Given the description of an element on the screen output the (x, y) to click on. 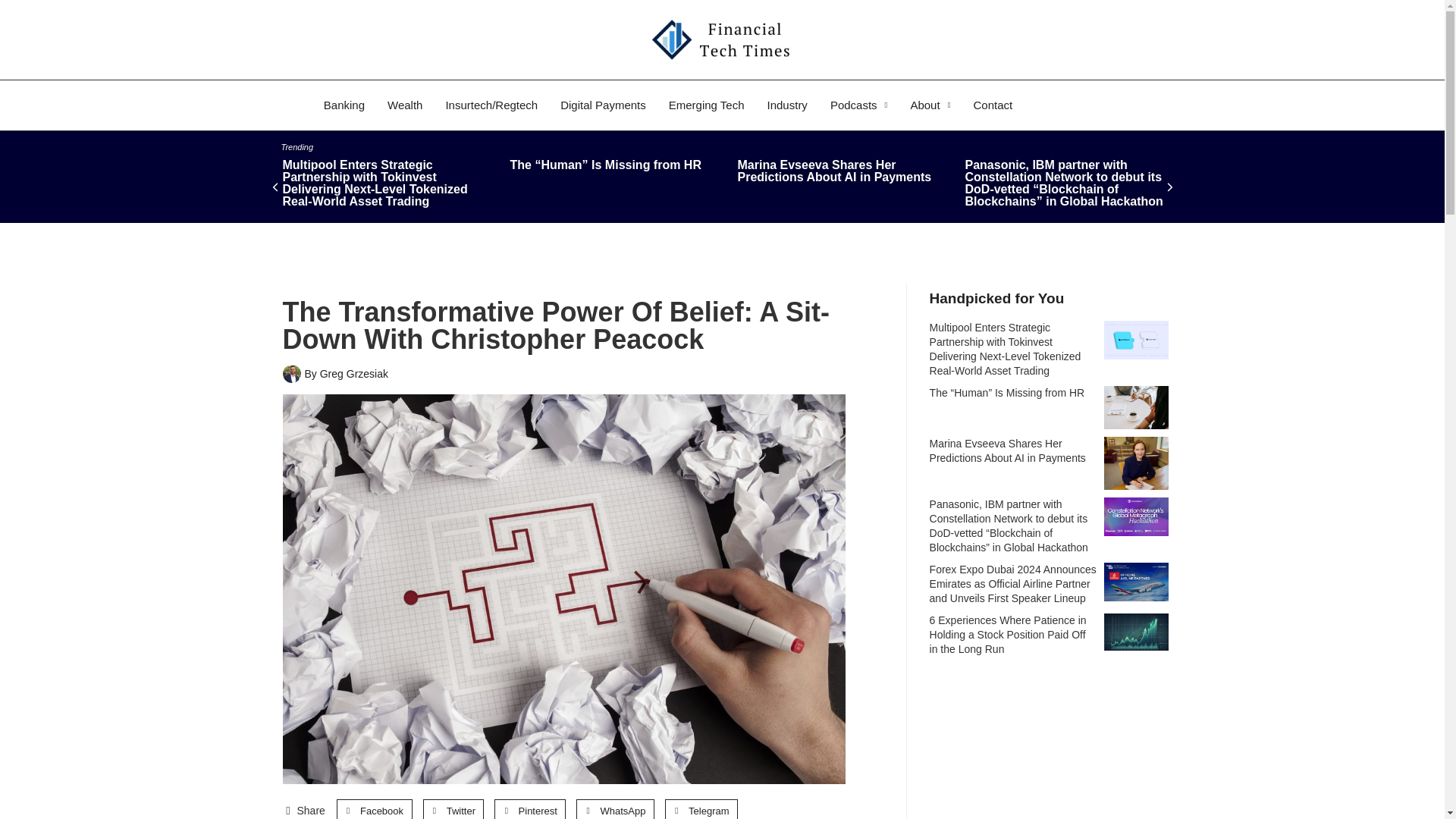
Industry (786, 104)
Emerging Tech (706, 104)
Podcasts (858, 104)
Contact (991, 104)
About (929, 104)
Marina Evseeva Shares Her Predictions about AI in Payments (1136, 463)
Wealth (404, 104)
pexels-alex-green-5699480 (1136, 407)
Digital Payments (603, 104)
Banking (344, 104)
